Given the description of an element on the screen output the (x, y) to click on. 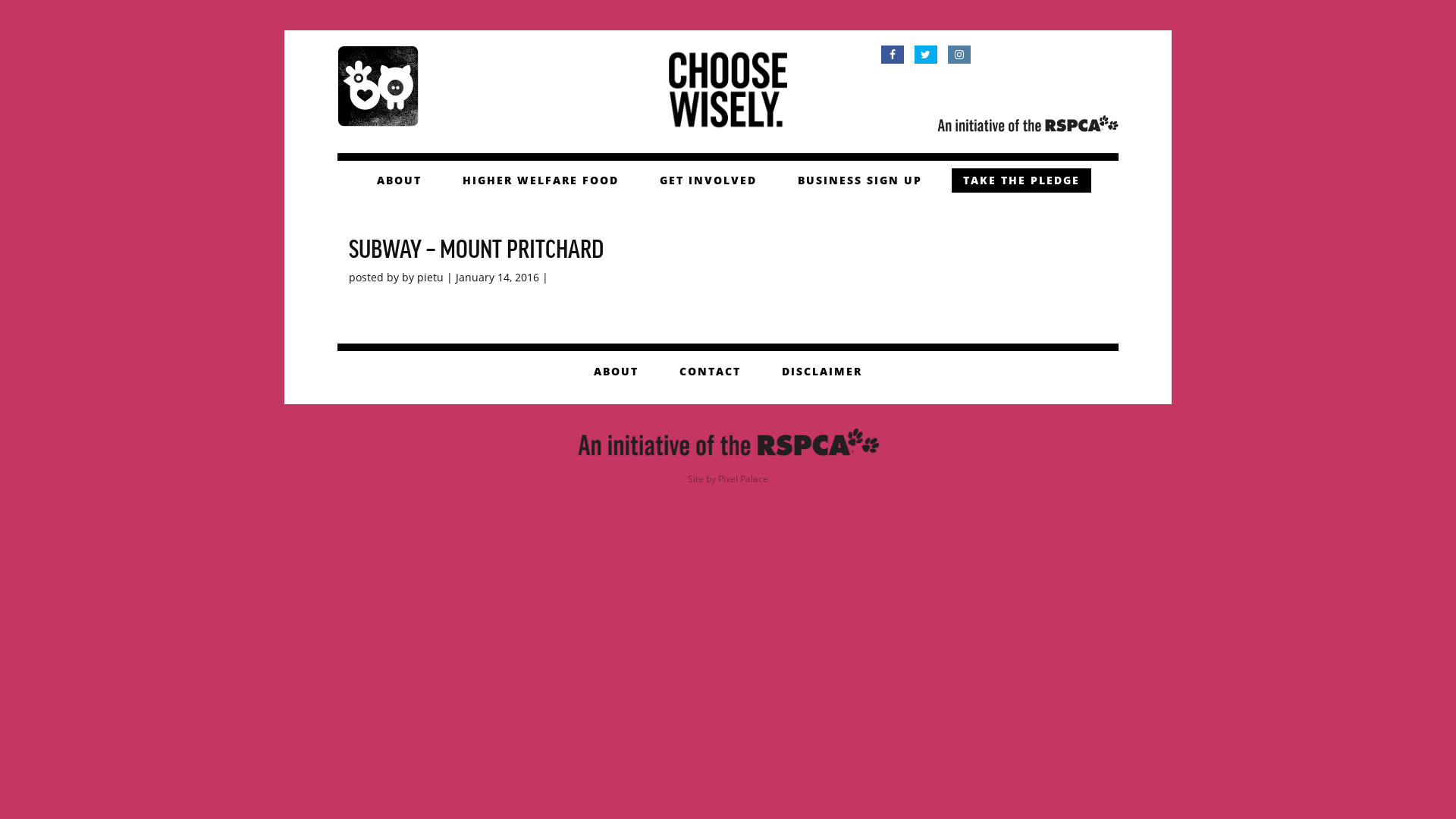
Pixel Palace Element type: text (743, 478)
pietu Element type: text (430, 276)
HIGHER WELFARE FOOD Element type: text (539, 180)
January 14, 2016 Element type: text (497, 276)
ABOUT Element type: text (615, 371)
CONTACT Element type: text (710, 371)
ABOUT Element type: text (399, 180)
GET INVOLVED Element type: text (707, 180)
BUSINESS SIGN UP Element type: text (858, 180)
Choose Wisely Element type: hover (727, 88)
DISCLAIMER Element type: text (821, 371)
TAKE THE PLEDGE Element type: text (1020, 180)
Choose Wisely Element type: hover (377, 84)
